Given the description of an element on the screen output the (x, y) to click on. 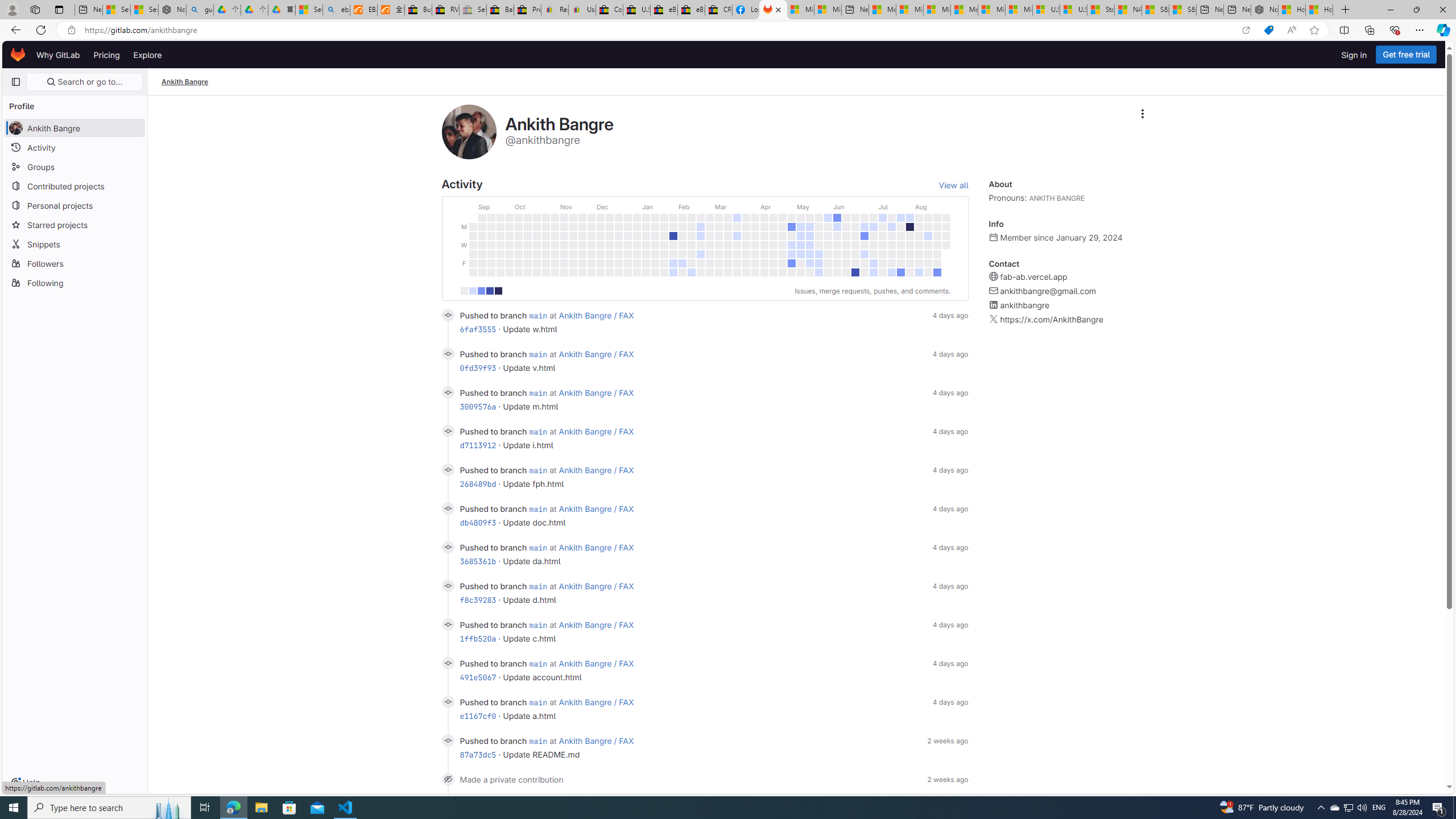
Starred projects (74, 224)
